Given the description of an element on the screen output the (x, y) to click on. 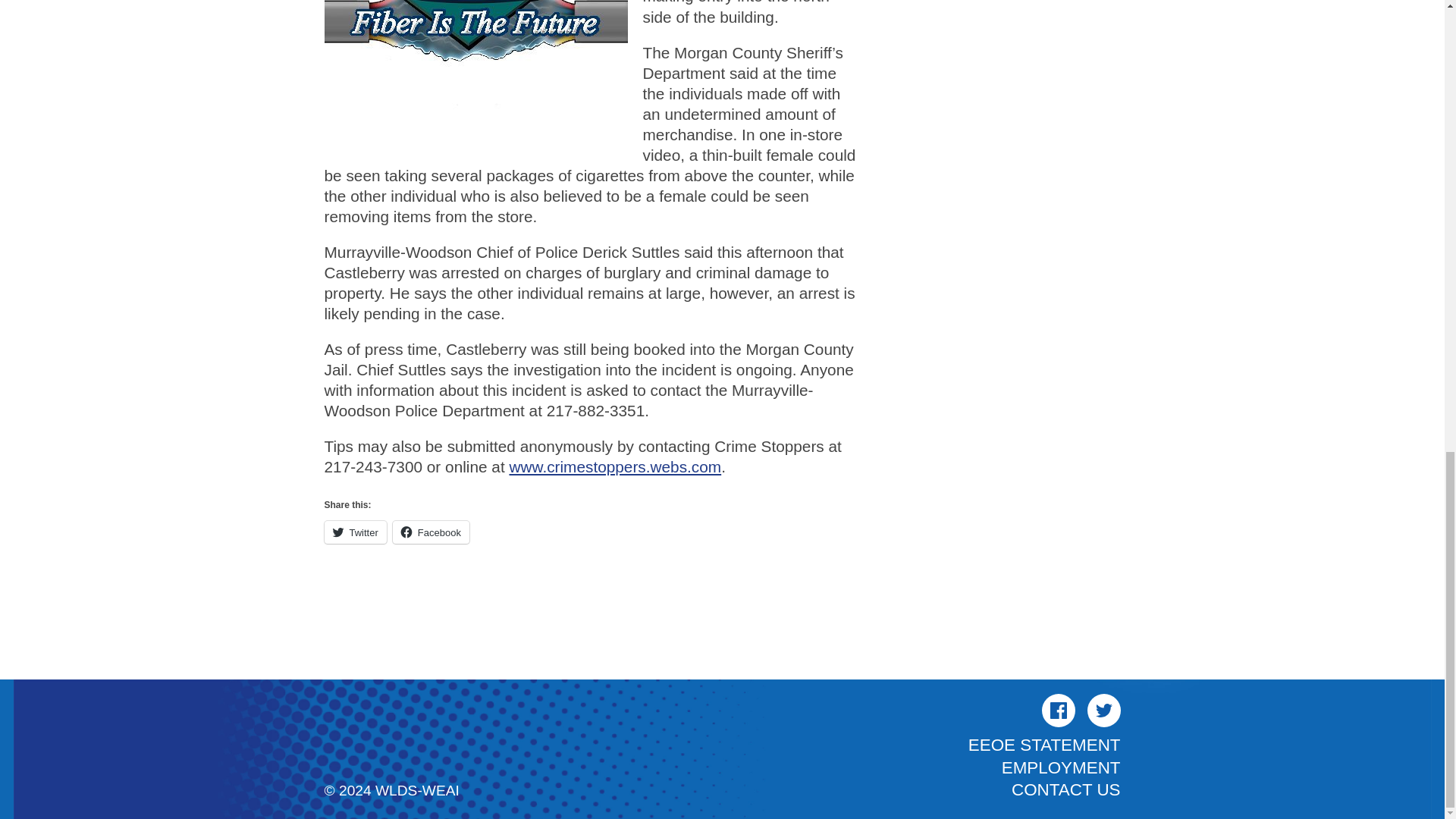
EEOE STATEMENT (1044, 744)
Facebook (430, 531)
Click to share on Twitter (355, 531)
Facebook (1058, 710)
Click to share on Facebook (430, 531)
www.crimestoppers.webs.com (614, 466)
Twitter (1104, 710)
CONTACT US (1065, 789)
Twitter (355, 531)
EMPLOYMENT (1061, 767)
